Given the description of an element on the screen output the (x, y) to click on. 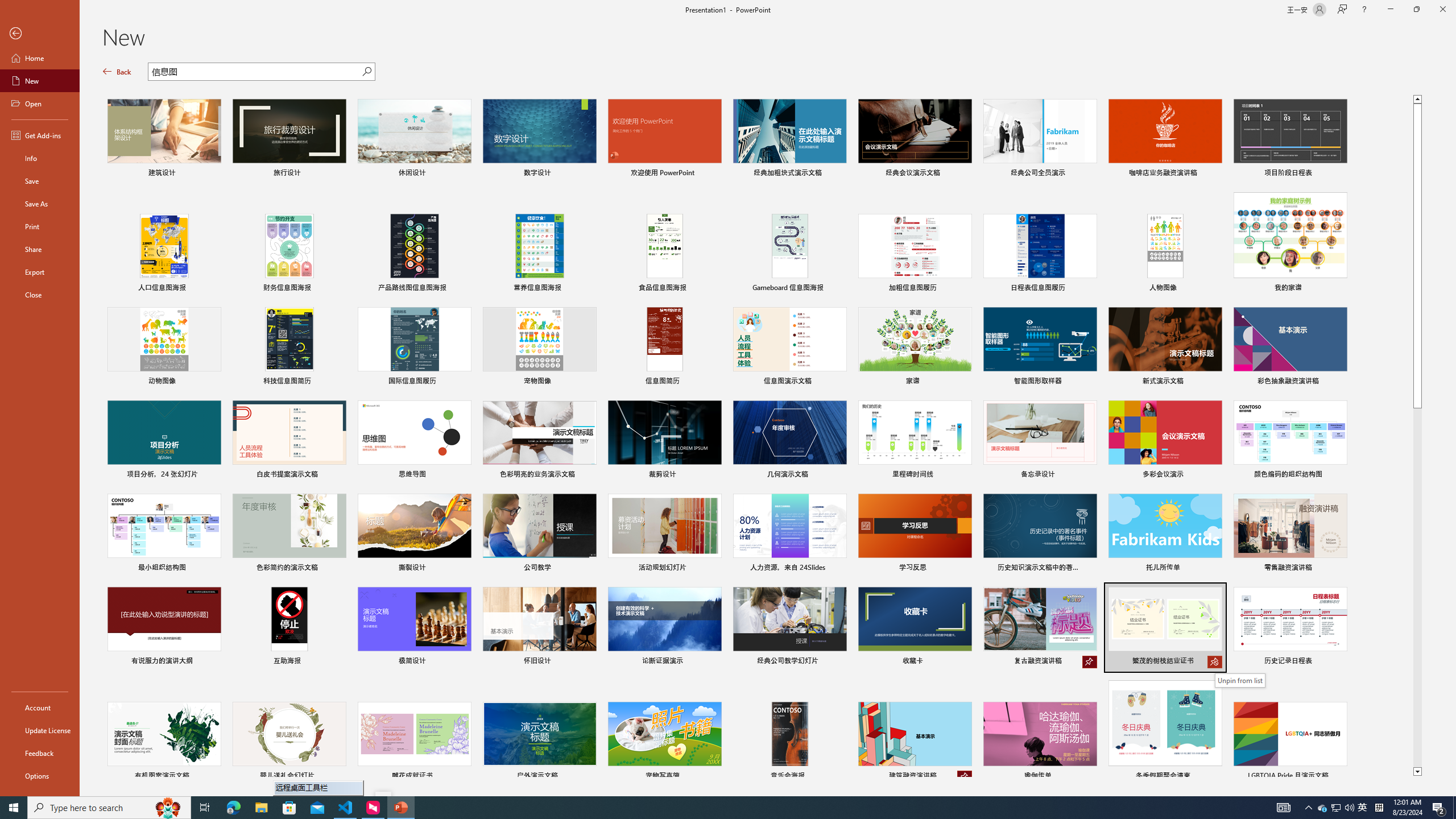
Feedback (40, 753)
Back (40, 33)
